Given the description of an element on the screen output the (x, y) to click on. 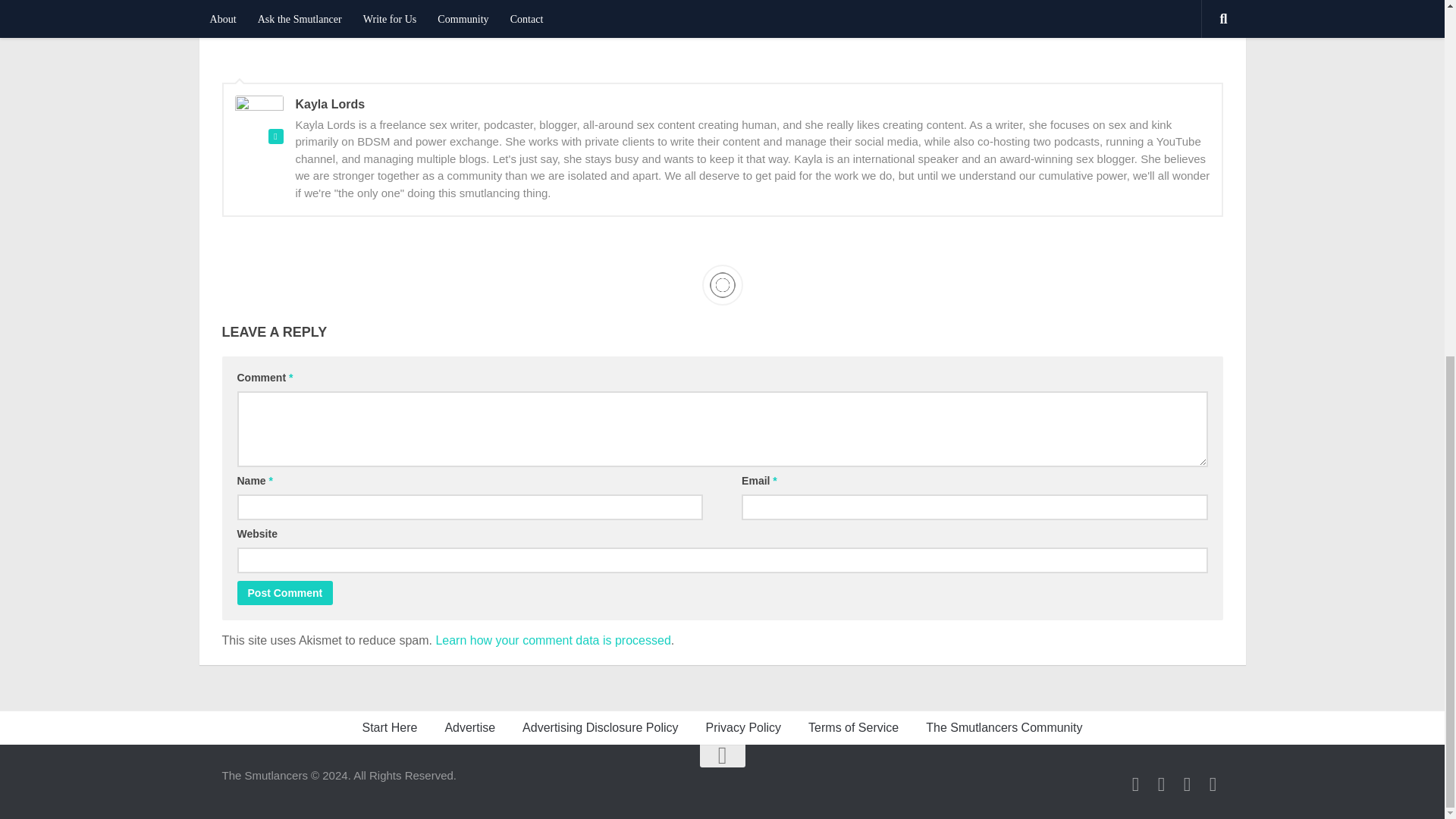
Join the Smutlancers Community (1212, 784)
Follow me on Facebook (1186, 784)
Post Comment (284, 592)
Follow me on Twitter (1134, 784)
Follow me on Instagram (1160, 784)
